Given the description of an element on the screen output the (x, y) to click on. 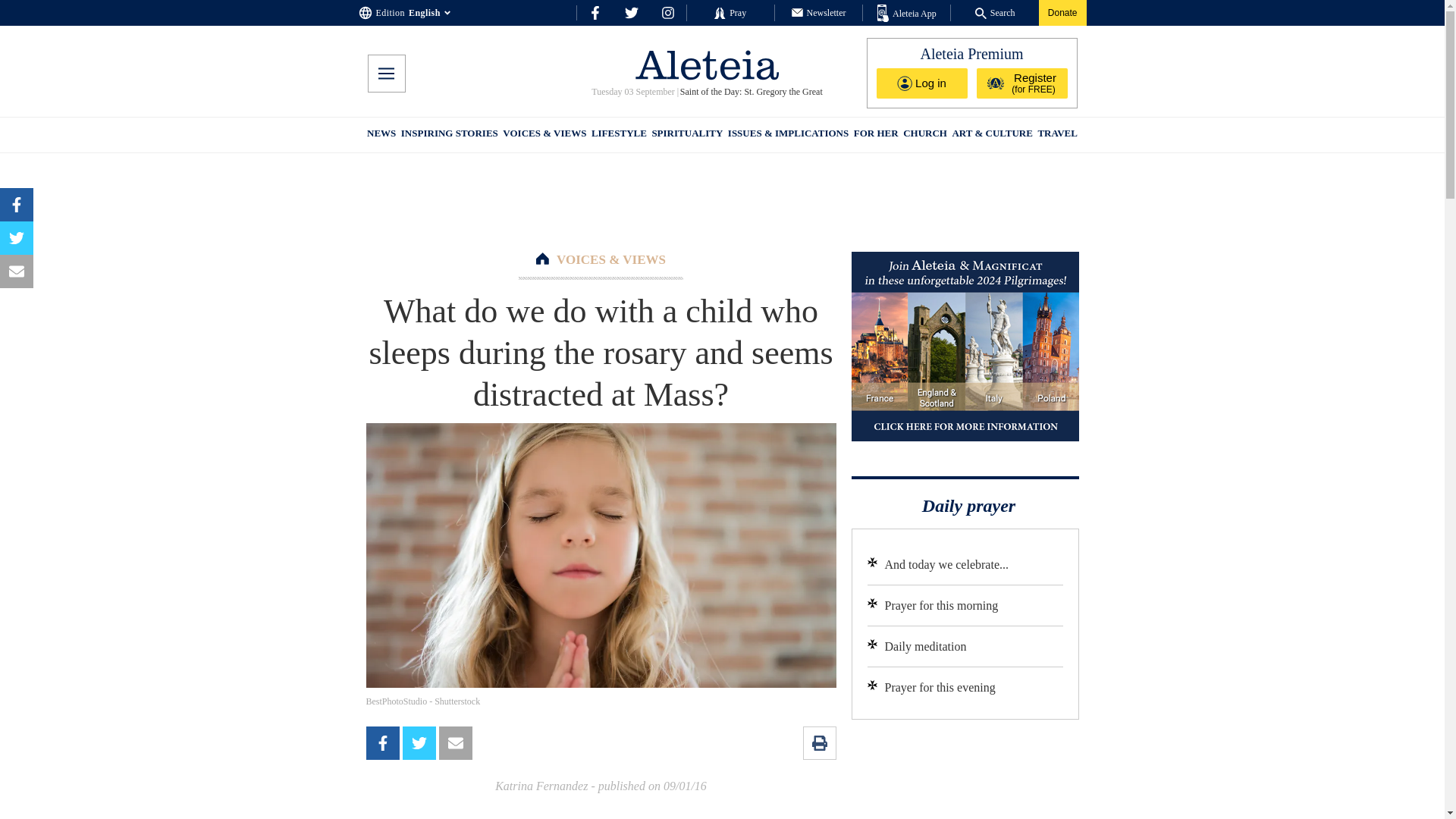
Katrina Fernandez (541, 785)
Newsletter (818, 12)
LIFESTYLE (618, 134)
SPIRITUALITY (686, 134)
social-tw-top-row (631, 12)
CHURCH (924, 134)
social-ig-top-row (668, 12)
social-fb-top-row (595, 12)
Search (994, 12)
Log in (922, 82)
